Given the description of an element on the screen output the (x, y) to click on. 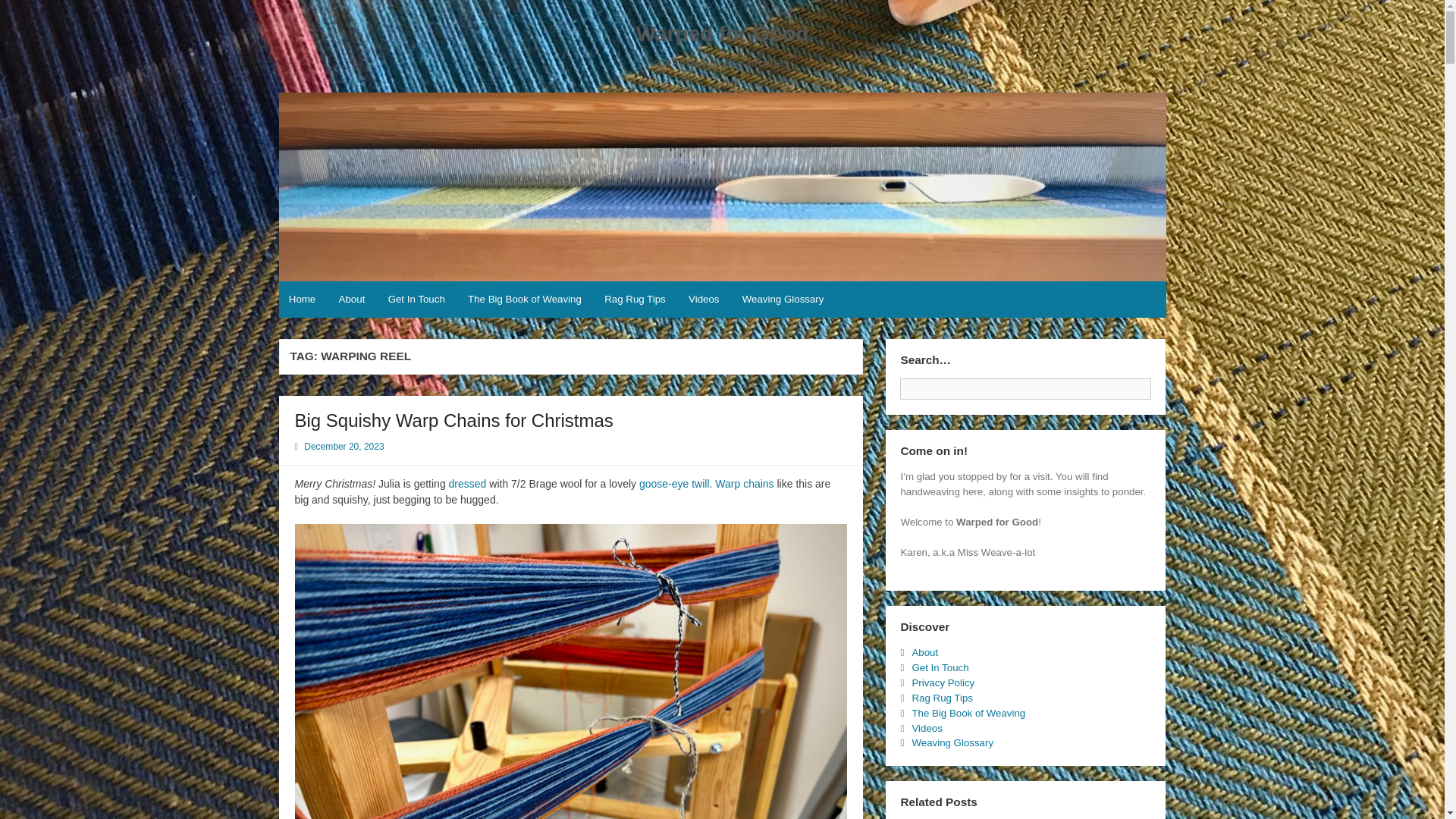
Get In Touch (415, 299)
Search (1163, 384)
Warp chains (743, 483)
About (351, 299)
Warped for Good (722, 33)
Home (302, 299)
December 20, 2023 (344, 446)
Big Squishy Warp Chains for Christmas (453, 420)
Rag Rug Tips (634, 299)
The Big Book of Weaving (524, 299)
Weaving Glossary (782, 299)
dressed (467, 483)
Videos (703, 299)
Search (1163, 384)
goose-eye twill (674, 483)
